Given the description of an element on the screen output the (x, y) to click on. 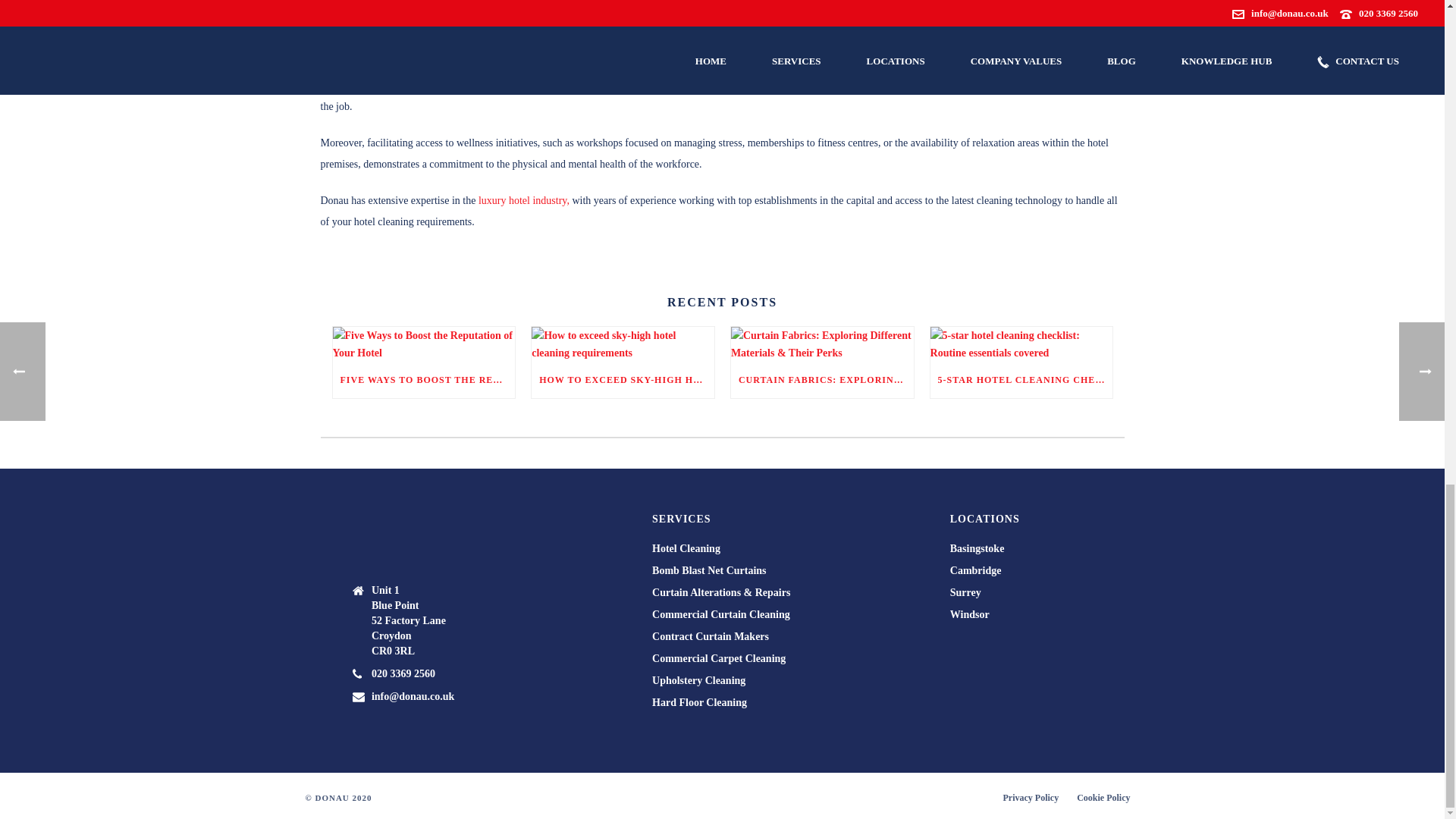
How to exceed sky-high hotel cleaning requirements (622, 343)
Five Ways to Boost the Reputation of Your Hotel (423, 343)
